Given the description of an element on the screen output the (x, y) to click on. 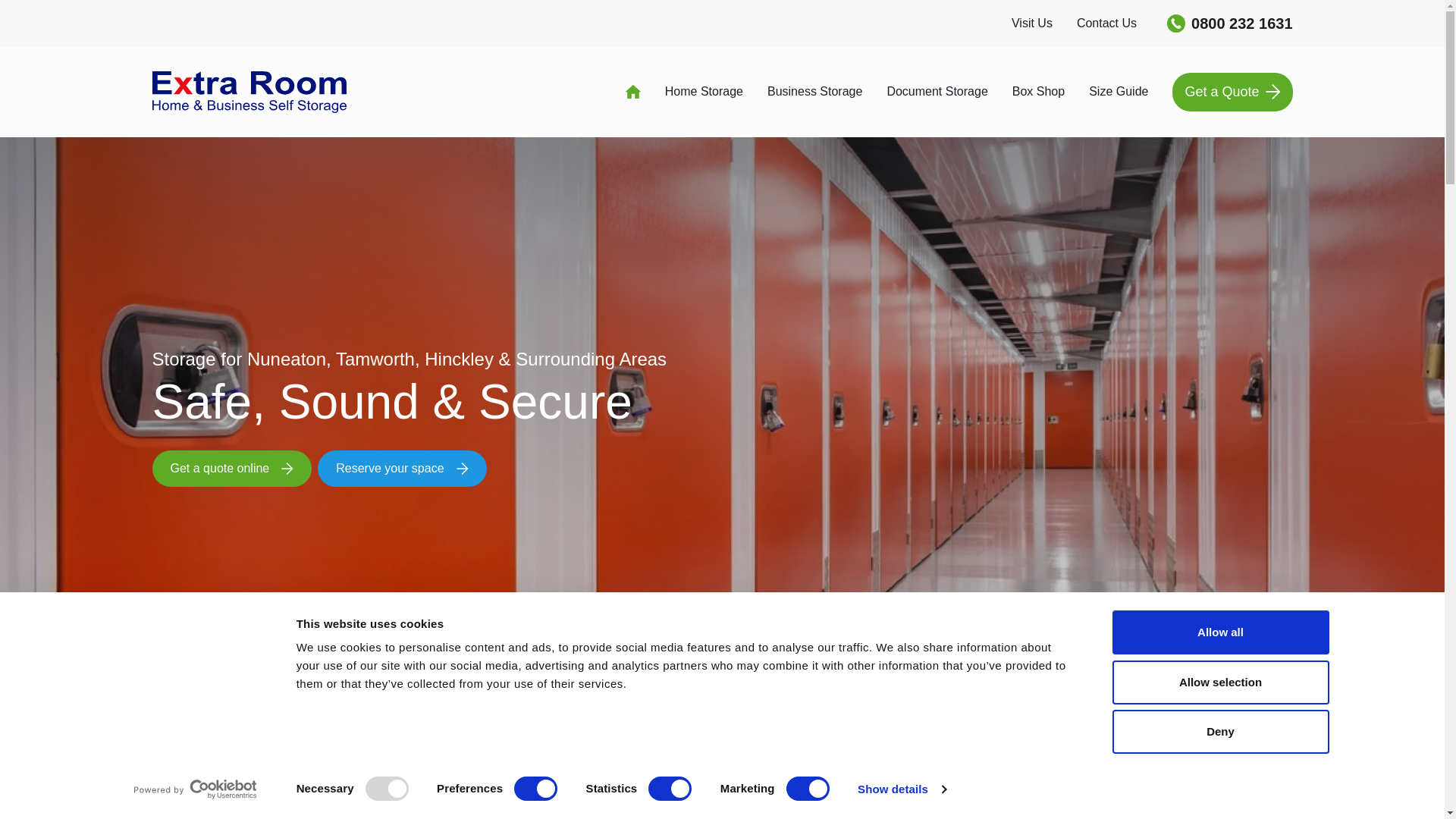
Home Storage (703, 91)
Business Storage (814, 91)
Deny (1219, 731)
0800 232 1631 (1229, 23)
Show details (900, 789)
Visit Us (1031, 23)
Home (633, 91)
Contact Us (1107, 23)
Allow all (1219, 632)
Document Storage (936, 91)
Allow selection (1219, 681)
